Given the description of an element on the screen output the (x, y) to click on. 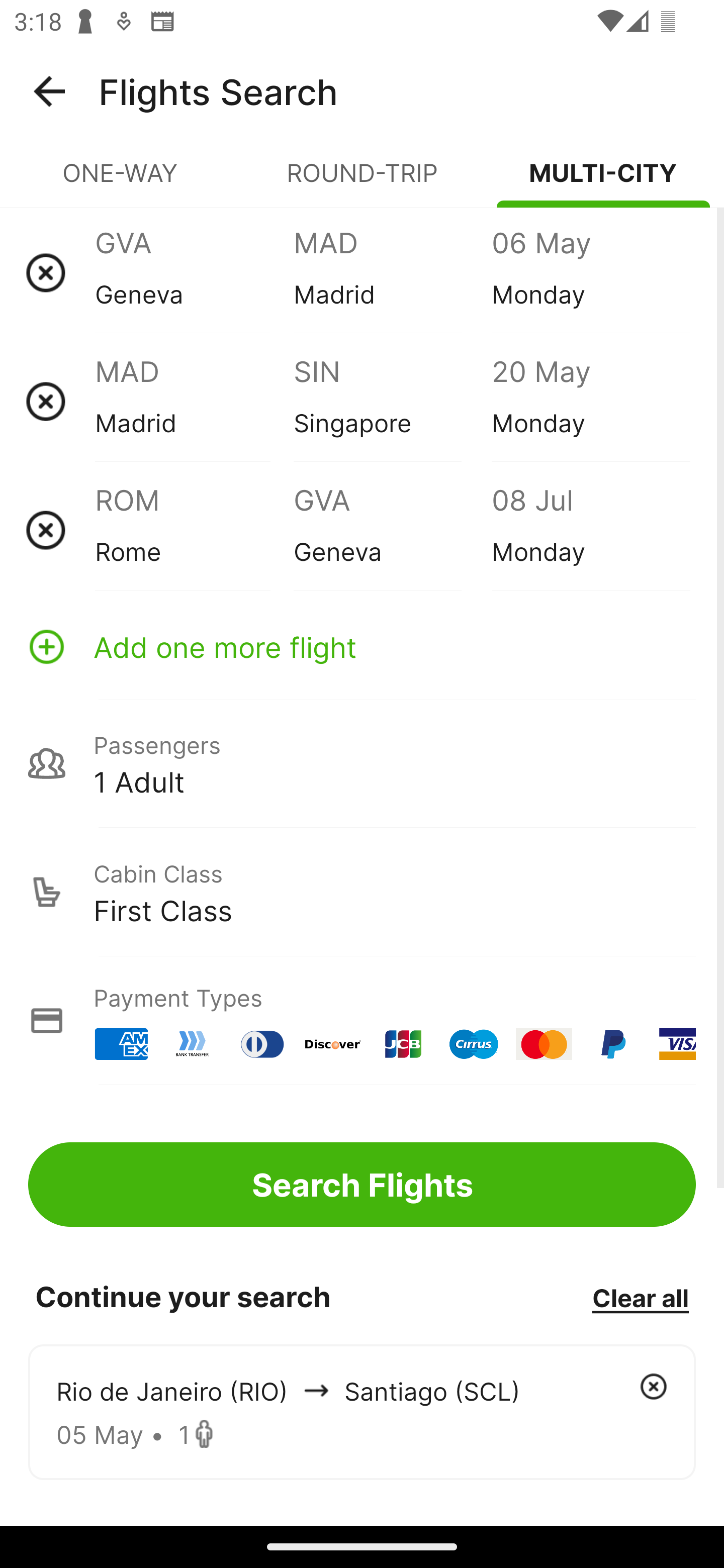
ONE-WAY (120, 180)
ROUND-TRIP (361, 180)
MULTI-CITY (603, 180)
GVA Geneva (193, 272)
MAD Madrid (392, 272)
06 May Monday (590, 272)
MAD Madrid (193, 401)
SIN Singapore (392, 401)
20 May Monday (590, 401)
ROM Rome (193, 529)
GVA Geneva (392, 529)
08 Jul Monday (590, 529)
Add one more flight (362, 646)
Passengers 1 Adult (362, 762)
Cabin Class First Class (362, 891)
Payment Types (362, 1020)
Search Flights (361, 1184)
Clear all (640, 1297)
